Given the description of an element on the screen output the (x, y) to click on. 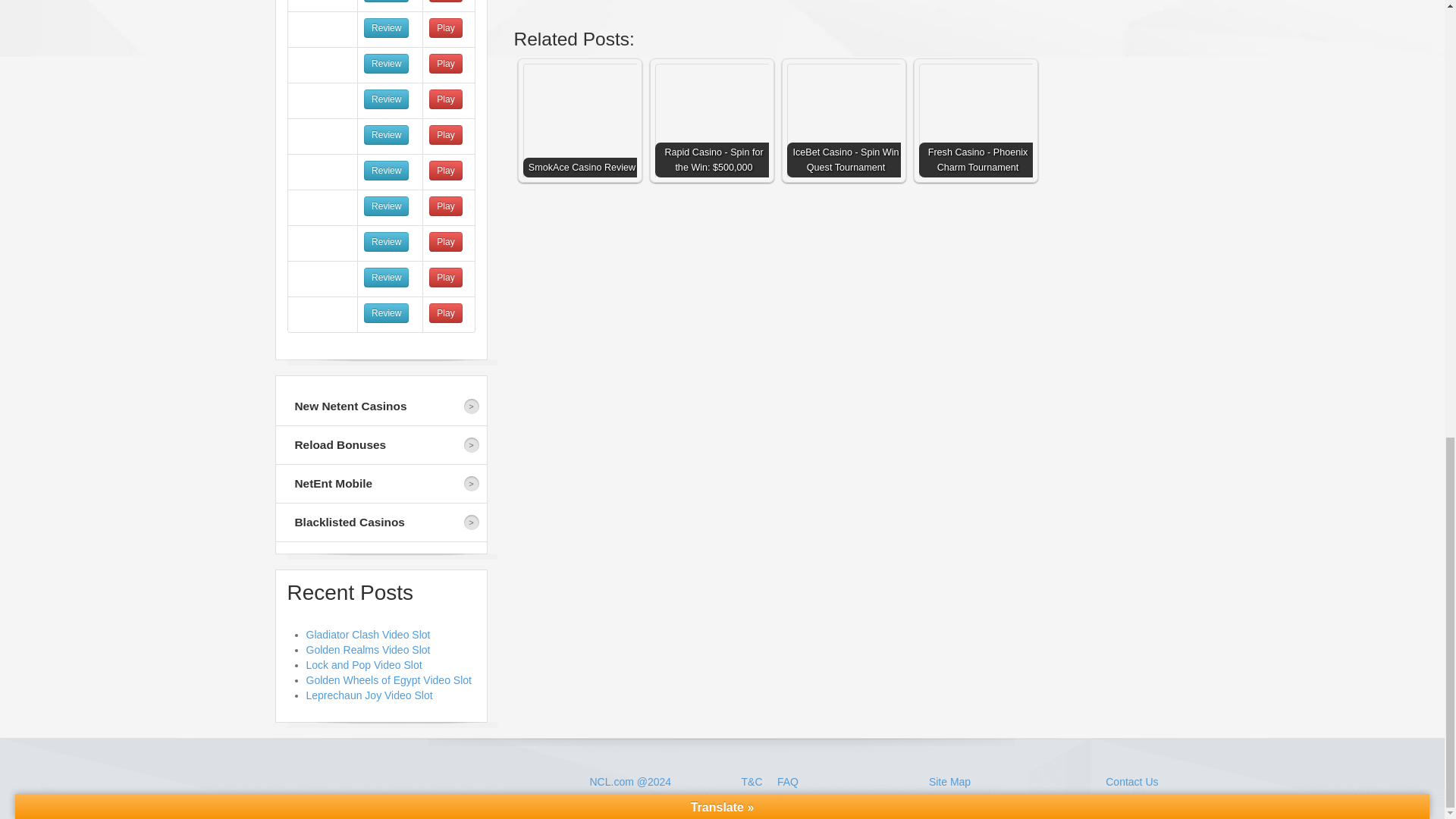
Review (386, 27)
Play (445, 27)
SmokAce Casino Review (579, 120)
Review (386, 1)
Play (445, 1)
IceBet Casino - Spin Win Quest Tournament (847, 124)
IceBet Casino - Spin Win Quest Tournament (844, 120)
Review (386, 63)
Fresh Casino - Phoenix Charm Tournament (975, 120)
Review (386, 98)
